Given the description of an element on the screen output the (x, y) to click on. 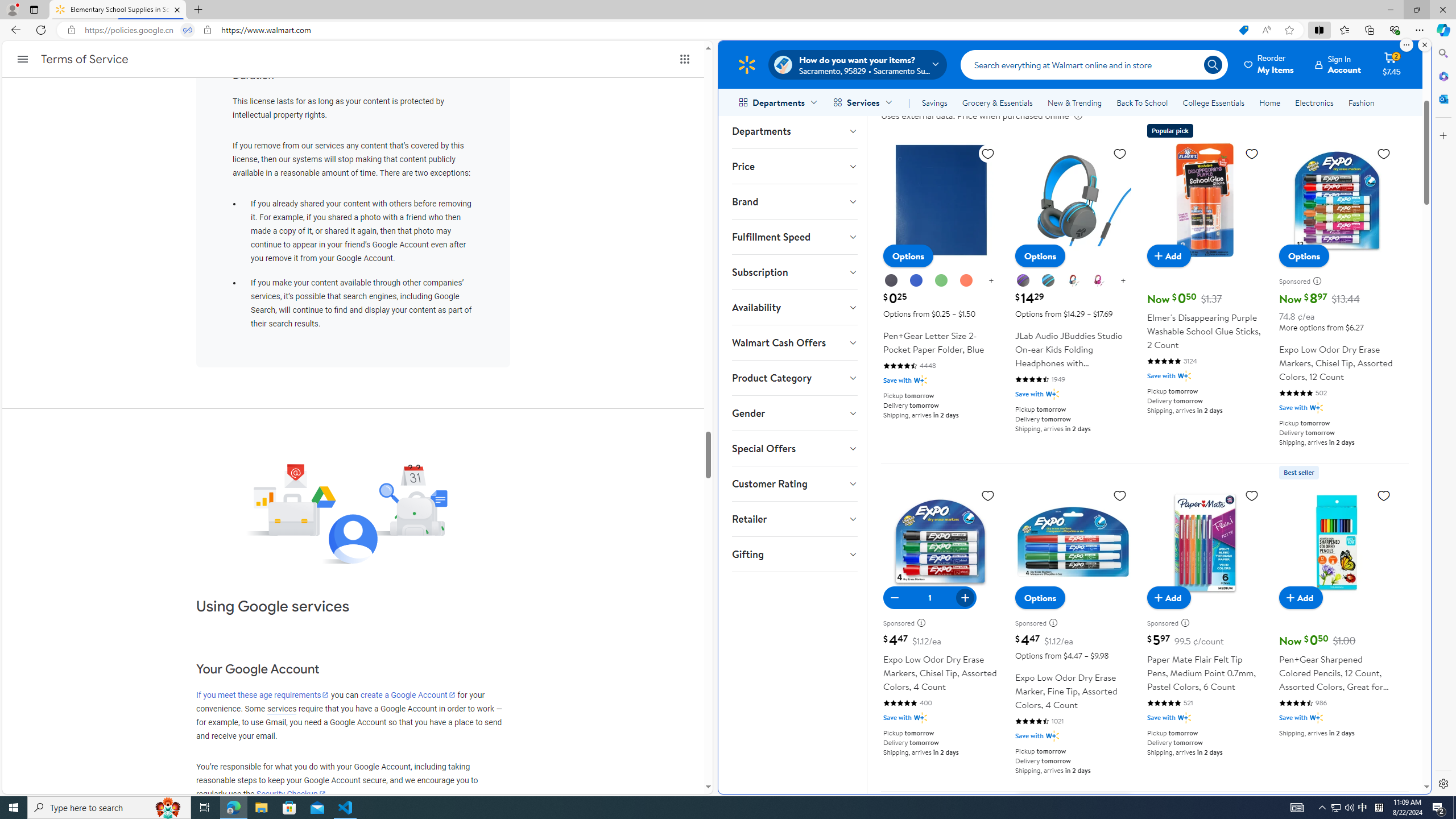
Back (13, 29)
Orange (965, 280)
Close tab (176, 9)
Subscription (794, 271)
Reorder My Items (1269, 64)
Availability (794, 307)
Gray (1048, 280)
Search icon (1212, 64)
Home (1269, 102)
Next slide for chipModuleWithImages list (1399, 29)
